Given the description of an element on the screen output the (x, y) to click on. 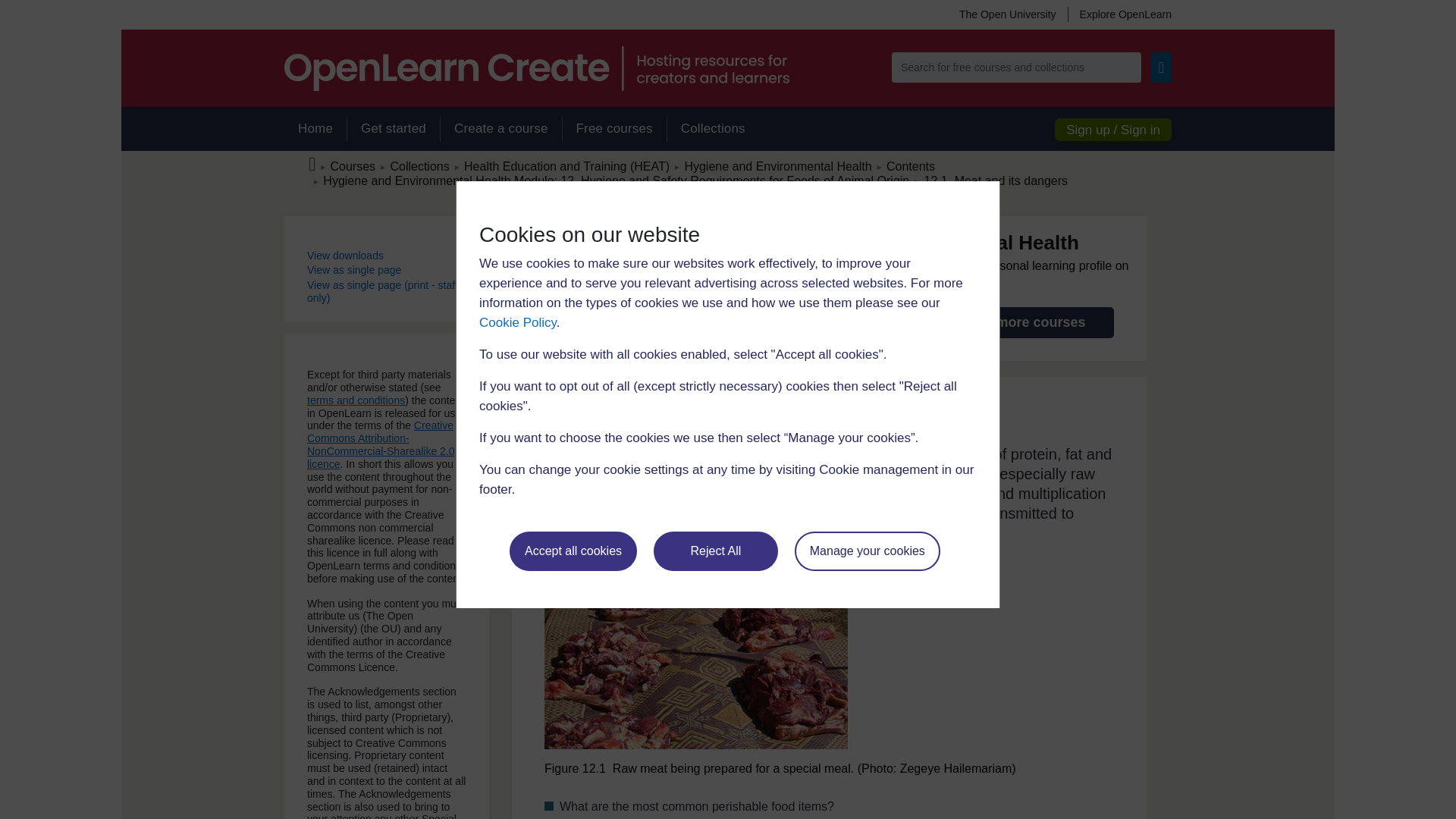
Get started (392, 128)
Explore OpenLearn (1119, 14)
Explore OpenLearn (1119, 14)
Create a course (500, 128)
Reject All (715, 550)
The Open University (1007, 14)
Free courses (614, 128)
The Open University (1007, 14)
Home (314, 128)
SC Web Editor (615, 180)
Cookie Policy (517, 322)
Manage your cookies (867, 550)
Accept all cookies (573, 550)
Collections (712, 128)
OpenLearn Create (536, 67)
